Given the description of an element on the screen output the (x, y) to click on. 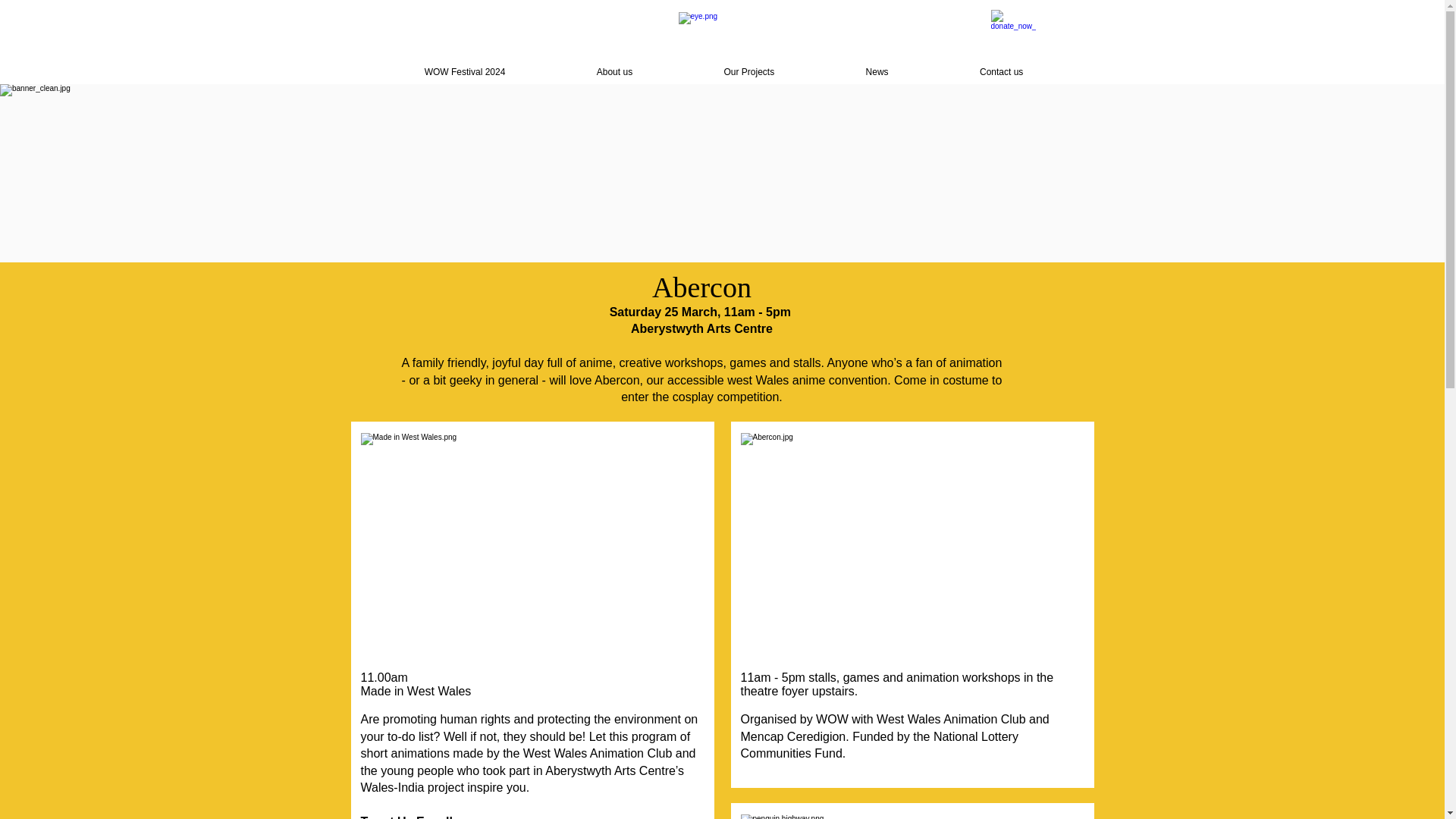
Contact us (1001, 71)
About us (614, 71)
WOW Festival 2024 (464, 71)
News (876, 71)
